Given the description of an element on the screen output the (x, y) to click on. 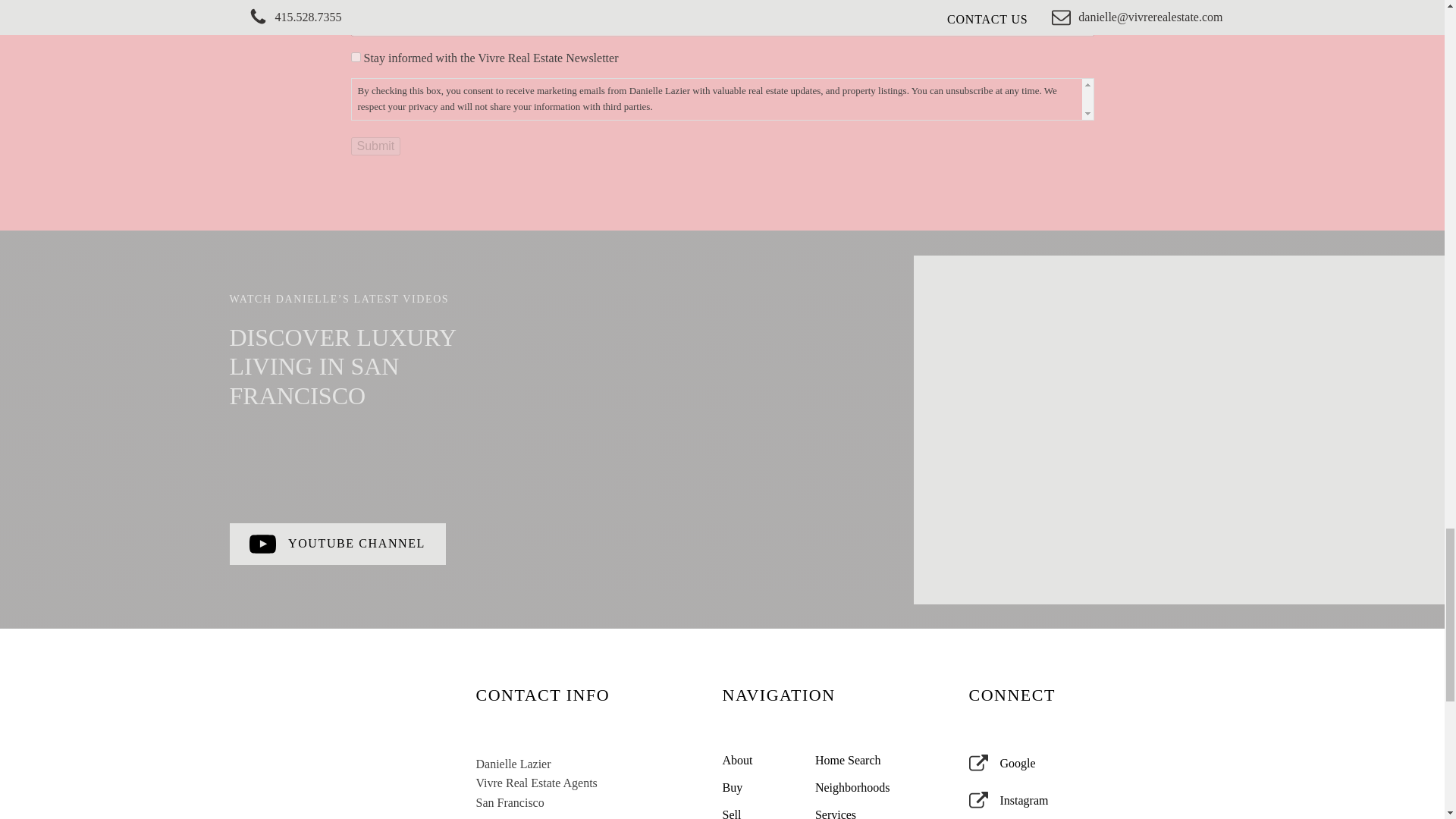
About (760, 760)
Home Search (853, 760)
Instagram (1008, 800)
Submit (375, 146)
Neighborhoods (853, 787)
Services (853, 814)
Buy (760, 787)
Google (1002, 763)
Submit (375, 146)
1 (354, 57)
